Given the description of an element on the screen output the (x, y) to click on. 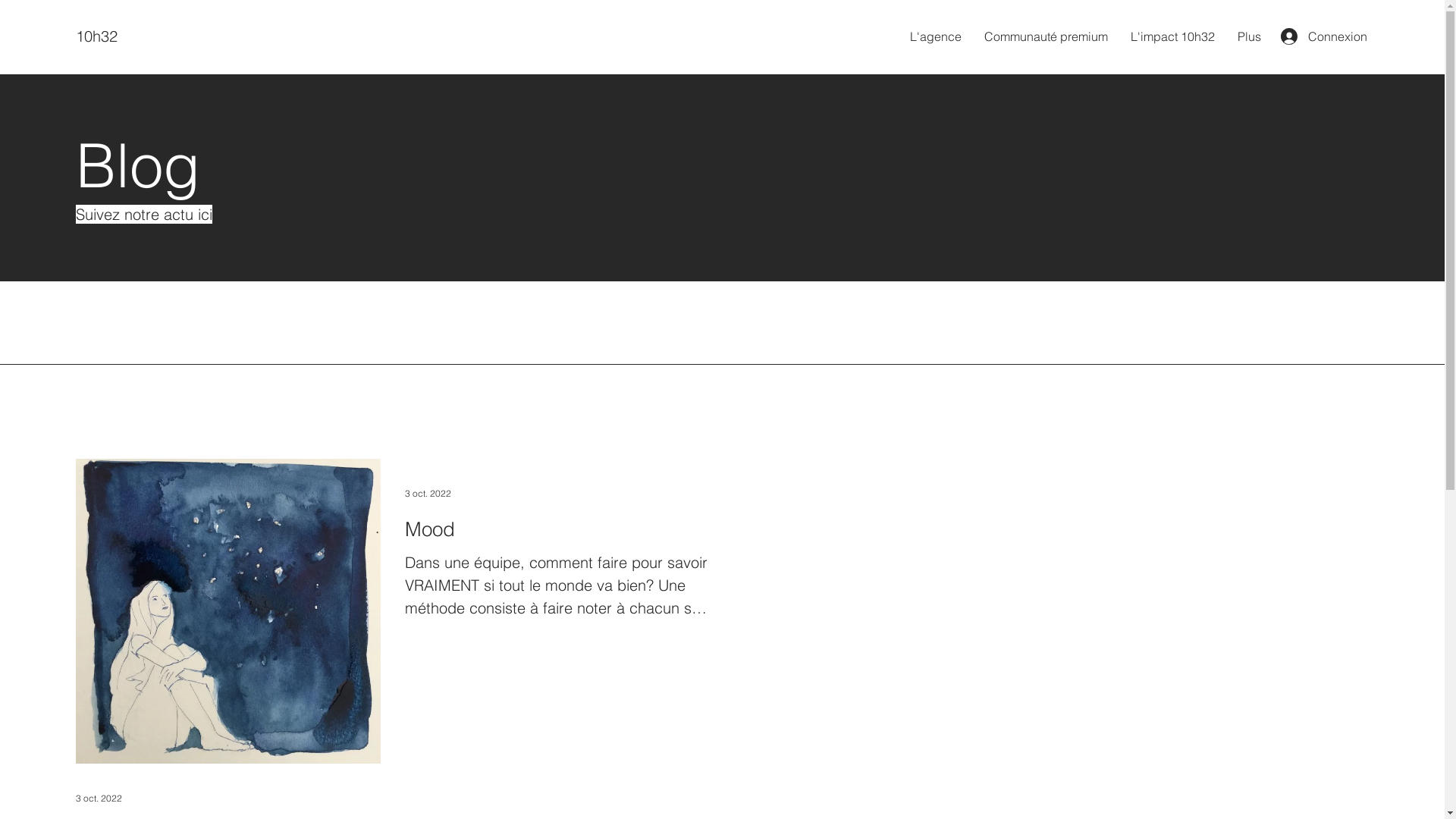
L'impact 10h32 Element type: text (1172, 36)
10h32 Element type: text (96, 35)
L'agence Element type: text (935, 36)
Connexion Element type: text (1314, 36)
Mood Element type: text (556, 528)
